Given the description of an element on the screen output the (x, y) to click on. 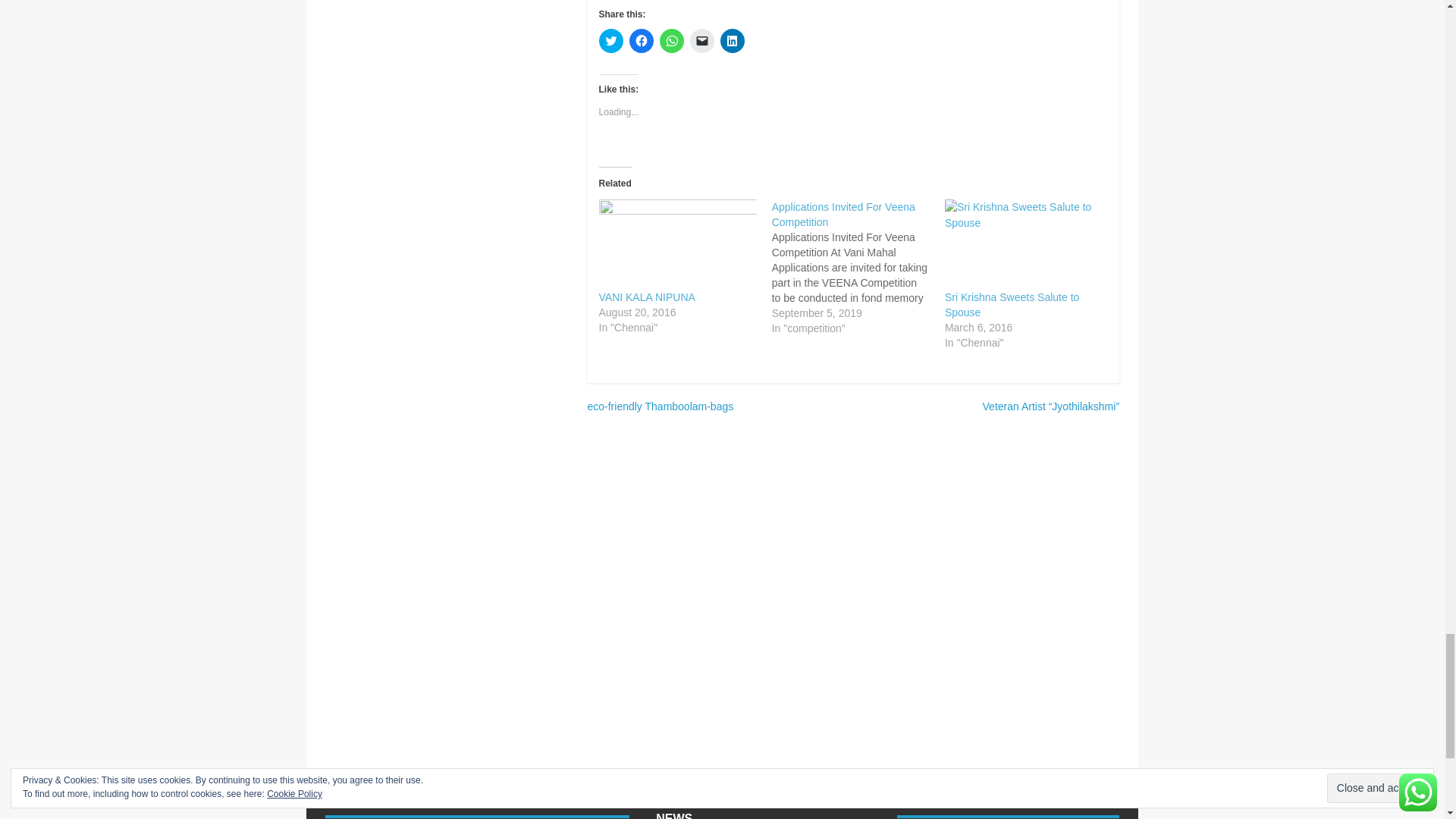
Click to share on LinkedIn (732, 40)
Applications Invited For Veena Competition (857, 267)
Sri Krishna Sweets Salute to Spouse (1023, 244)
Click to share on WhatsApp (671, 40)
Click to email a link to a friend (702, 40)
Click to share on Facebook (640, 40)
VANI KALA NIPUNA (677, 244)
VANI KALA NIPUNA (646, 297)
Sri Krishna Sweets Salute to Spouse (1011, 304)
Click to share on Twitter (610, 40)
